Given the description of an element on the screen output the (x, y) to click on. 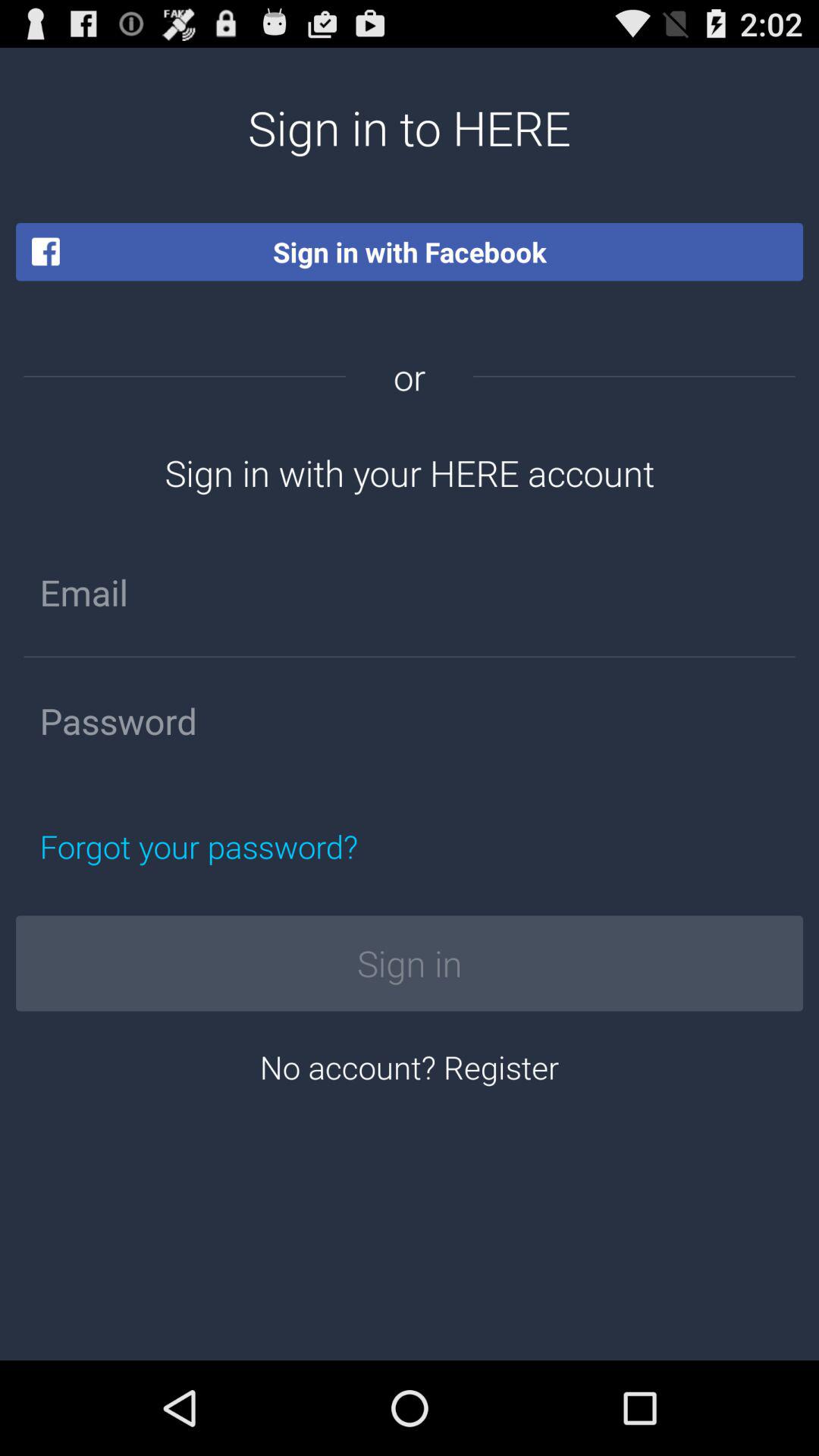
enter e-mail address (409, 592)
